Given the description of an element on the screen output the (x, y) to click on. 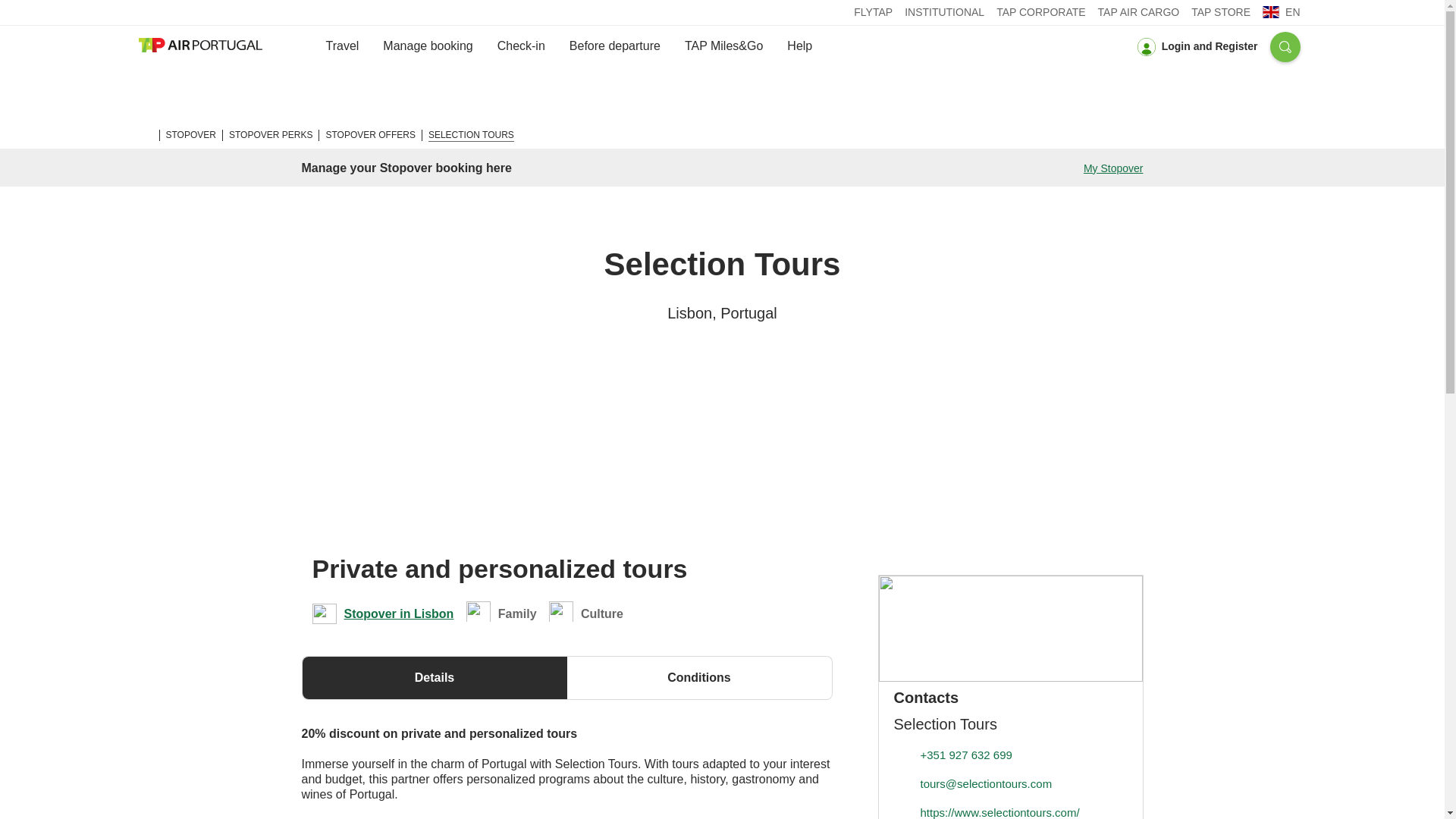
TAP AIR CARGO (1138, 11)
TAP STORE (1220, 11)
Manage booking (427, 46)
Languages (1281, 11)
Travel (342, 46)
Travel (342, 46)
EN (1281, 11)
